Given the description of an element on the screen output the (x, y) to click on. 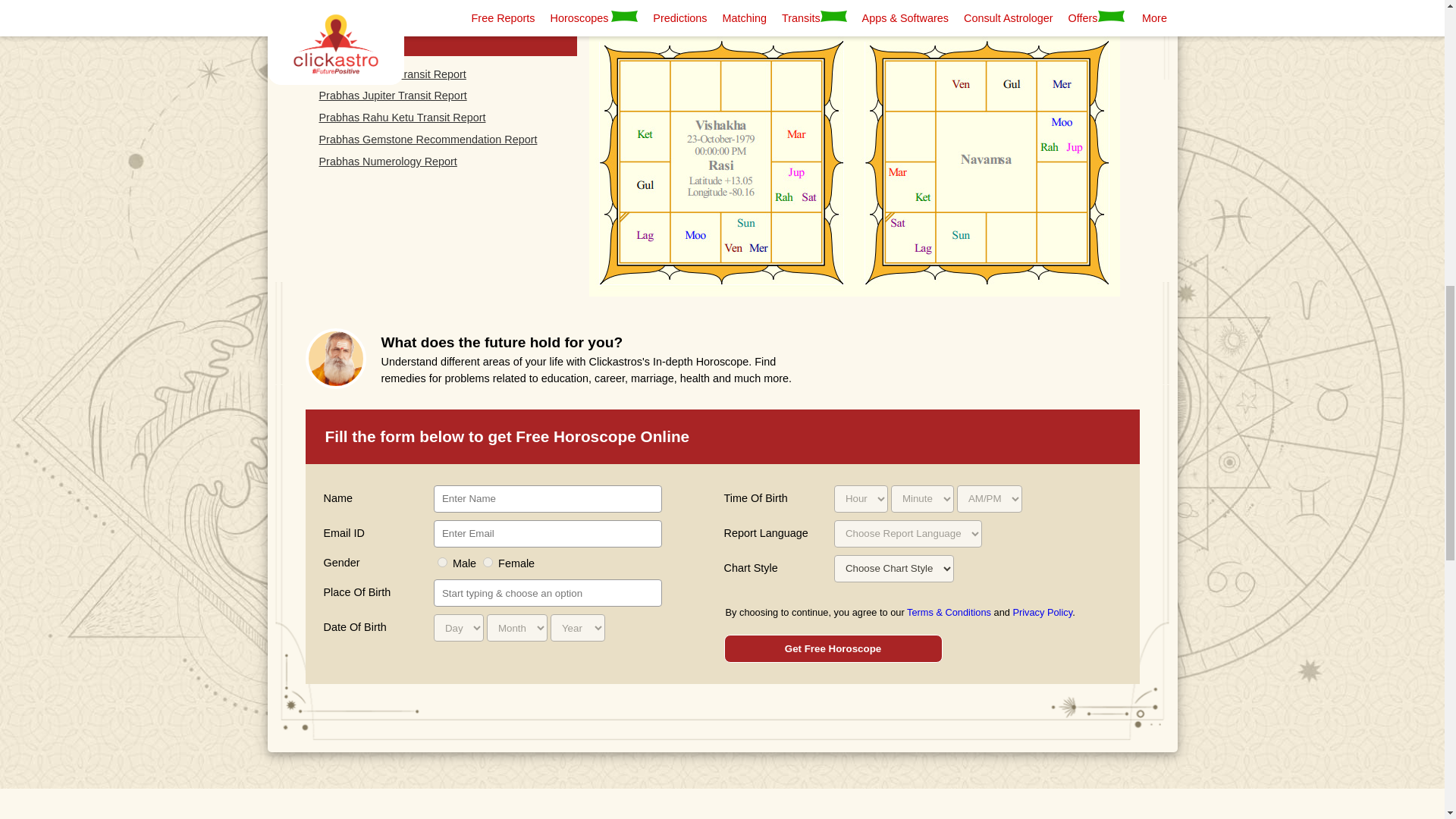
Male (442, 562)
Female (488, 562)
